Given the description of an element on the screen output the (x, y) to click on. 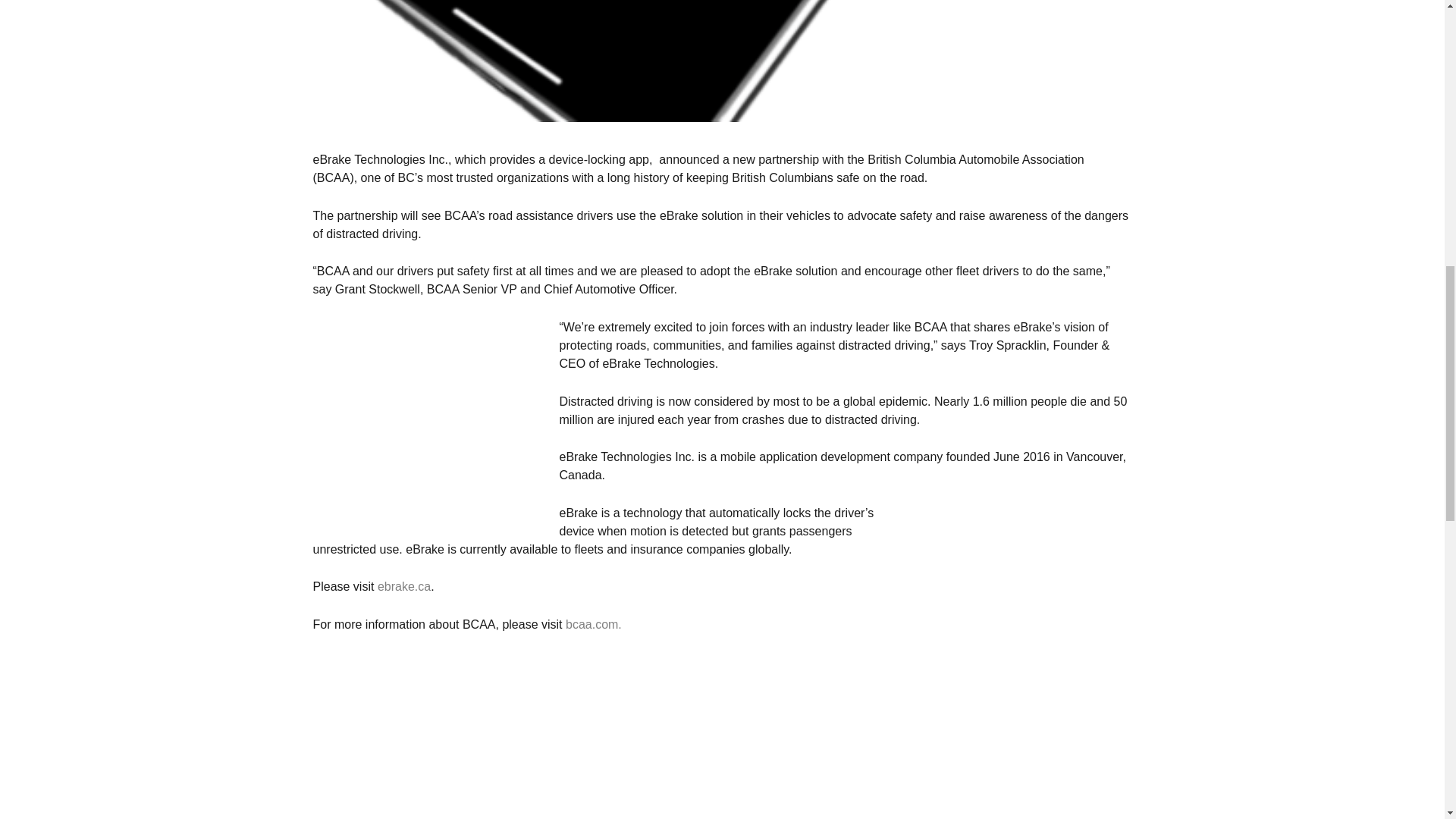
ebrake.ca (403, 585)
silver-angle-small (722, 61)
3rd party ad content (1017, 598)
3rd party ad content (426, 726)
3rd party ad content (426, 412)
bcaa.com. (593, 624)
